Given the description of an element on the screen output the (x, y) to click on. 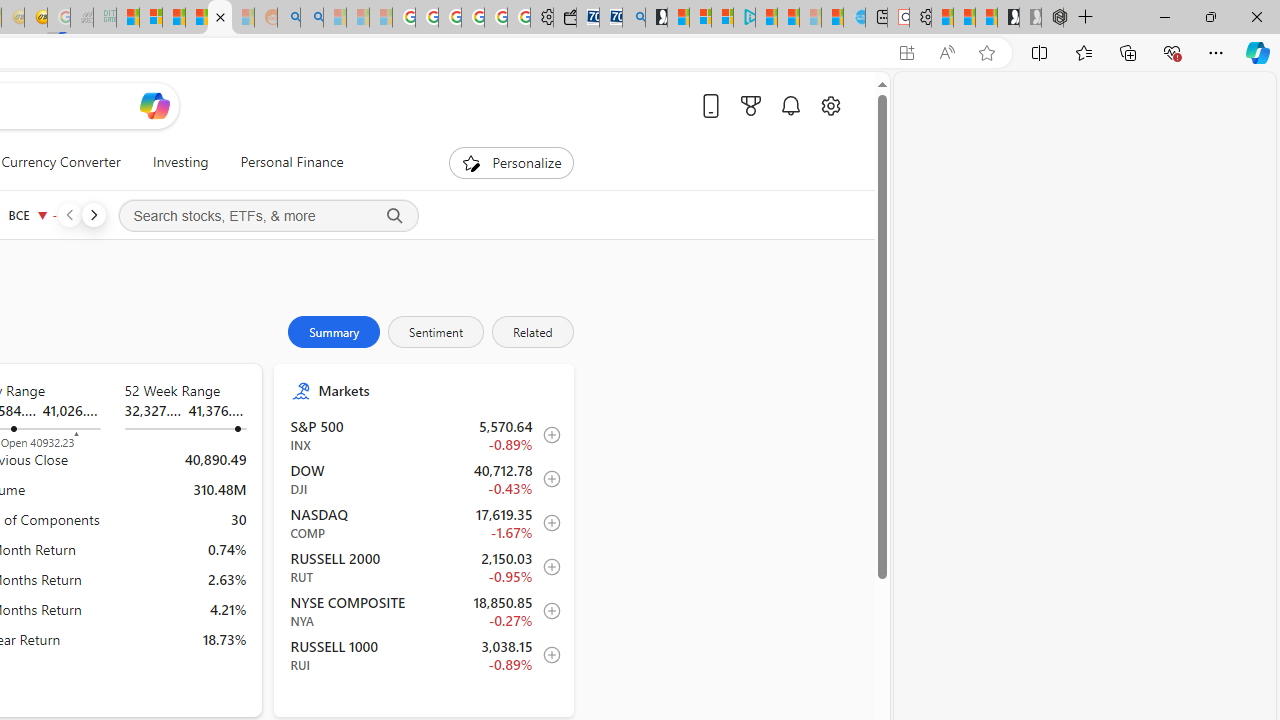
Investing (180, 162)
DJI DOW decrease 40,712.78 -177.71 -0.43% itemundefined (423, 479)
